Given the description of an element on the screen output the (x, y) to click on. 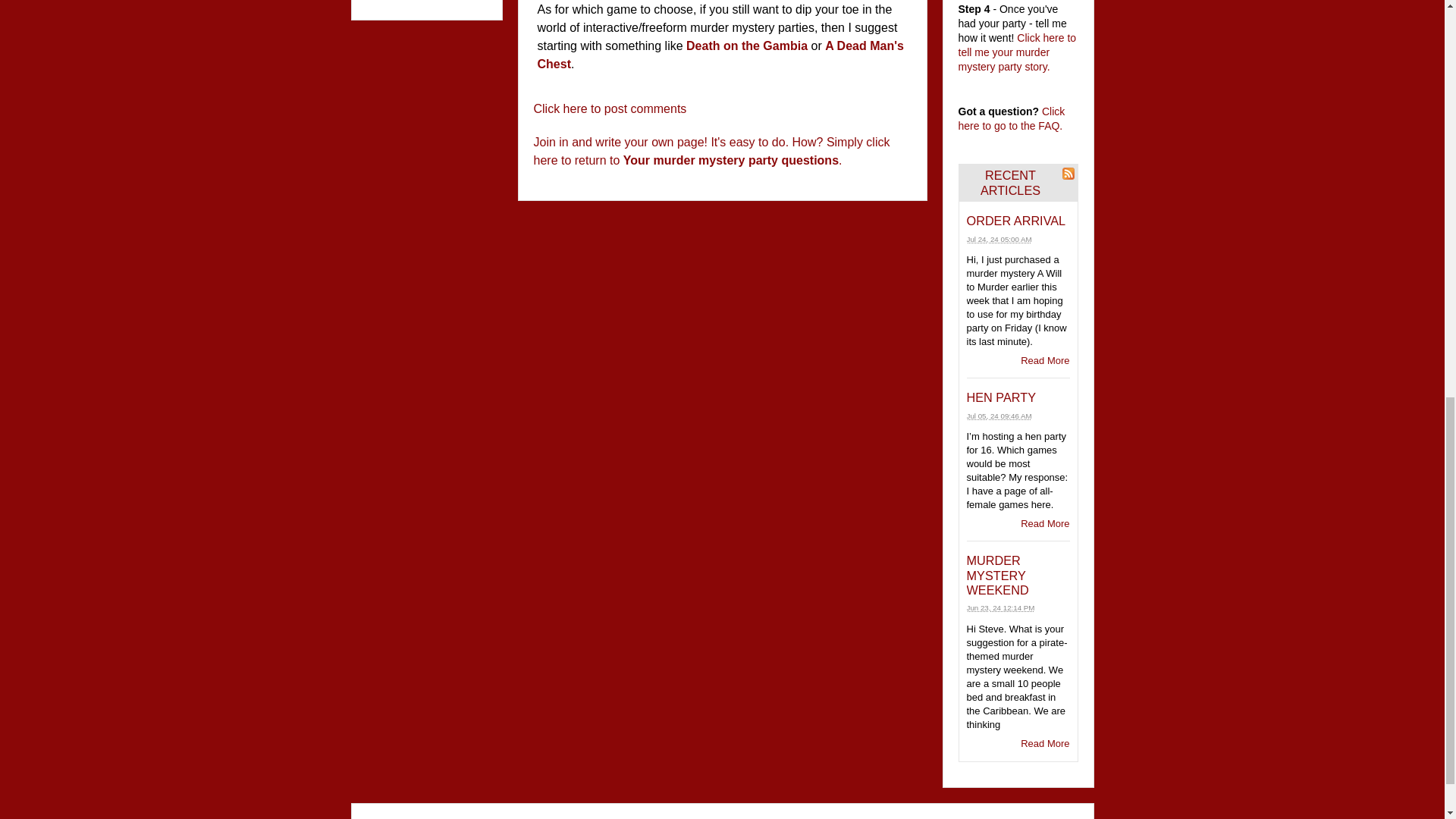
Click here to post comments (610, 107)
2024-06-23T12:14:54-0400 (999, 607)
RECENT ARTICLES (1010, 182)
A Dead Man's Chest (719, 54)
Death on the Gambia (746, 45)
2024-07-05T09:46:35-0400 (998, 415)
2024-07-24T05:00:29-0400 (998, 239)
Click here to go to the FAQ. (1011, 118)
HEN PARTY (1000, 397)
Click here to tell me your murder mystery party story. (1017, 52)
Read More (1044, 360)
ORDER ARRIVAL (1015, 220)
